Given the description of an element on the screen output the (x, y) to click on. 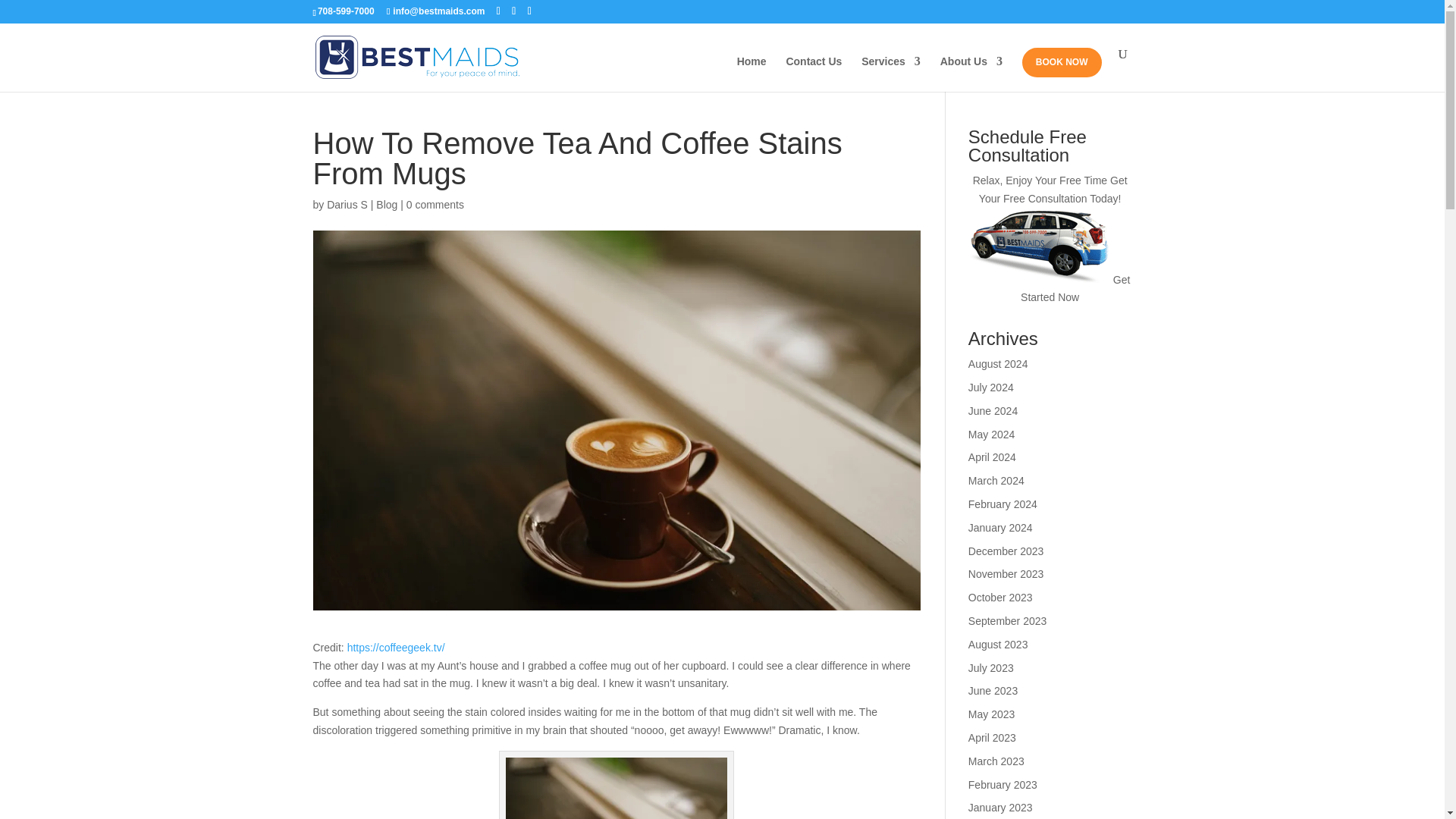
February 2024 (1002, 503)
January 2024 (1000, 527)
About Us (971, 73)
Blog (386, 204)
Contact Us (813, 73)
March 2024 (996, 480)
August 2024 (997, 363)
Darius S (347, 204)
Get Started Now (1074, 288)
April 2024 (992, 457)
